Given the description of an element on the screen output the (x, y) to click on. 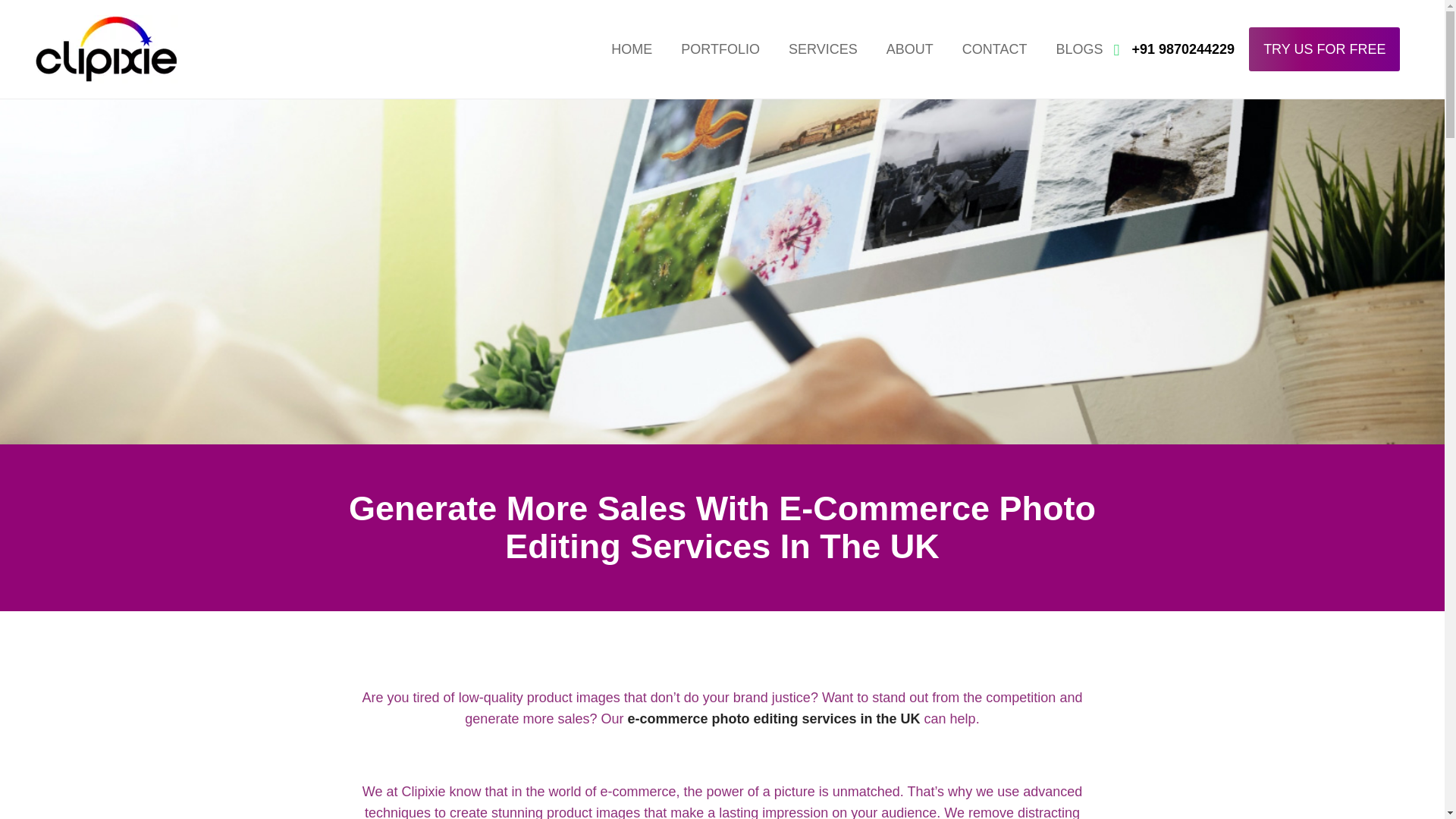
PORTFOLIO (720, 49)
TRY US FOR FREE (1324, 49)
ABOUT (909, 49)
HOME (631, 49)
SERVICES (823, 49)
BLOGS (1078, 49)
CONTACT (994, 49)
